Given the description of an element on the screen output the (x, y) to click on. 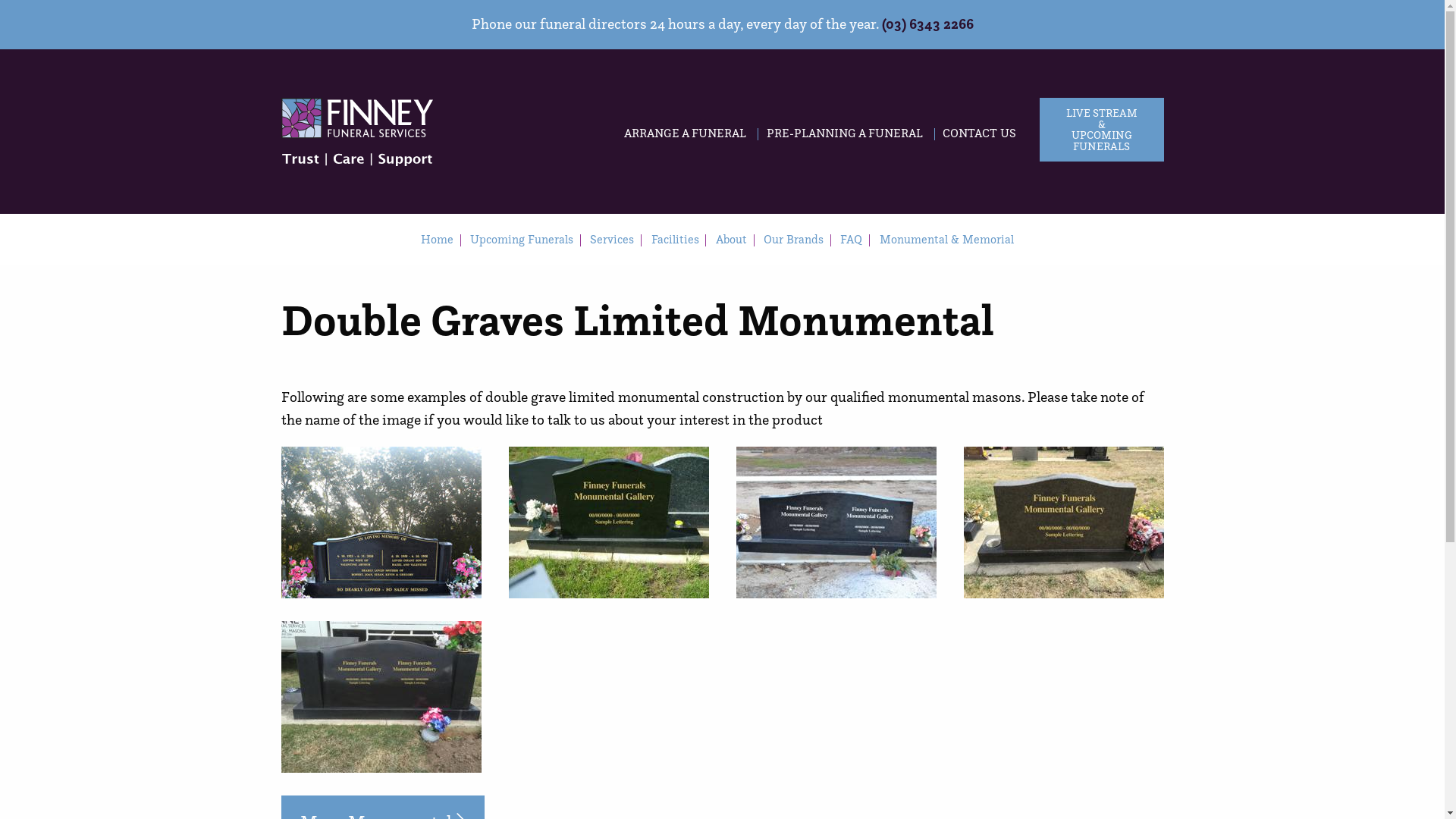
About Element type: text (730, 240)
Home Element type: text (436, 240)
Services Element type: text (611, 240)
double-grave-limited-2 Element type: hover (608, 522)
ARRANGE A FUNERAL Element type: text (685, 134)
Monumental & Memorial Element type: text (946, 240)
Finney Funeral Services - Home Page Element type: hover (356, 131)
(03) 6343 2266 Element type: text (926, 23)
Our Brands Element type: text (793, 240)
FAQ Element type: text (851, 240)
Facilities Element type: text (675, 240)
double-grave-limited-4 Element type: hover (1063, 522)
CONTACT US Element type: text (979, 134)
double-grave-limited-1 Element type: hover (380, 522)
Upcoming Funerals Element type: text (521, 240)
LIVE STREAM
&
UPCOMING FUNERALS Element type: text (1100, 129)
double-grave-limited-3 Element type: hover (835, 522)
double-grave-limited-5 Element type: hover (380, 696)
PRE-PLANNING A FUNERAL Element type: text (844, 134)
